Given the description of an element on the screen output the (x, y) to click on. 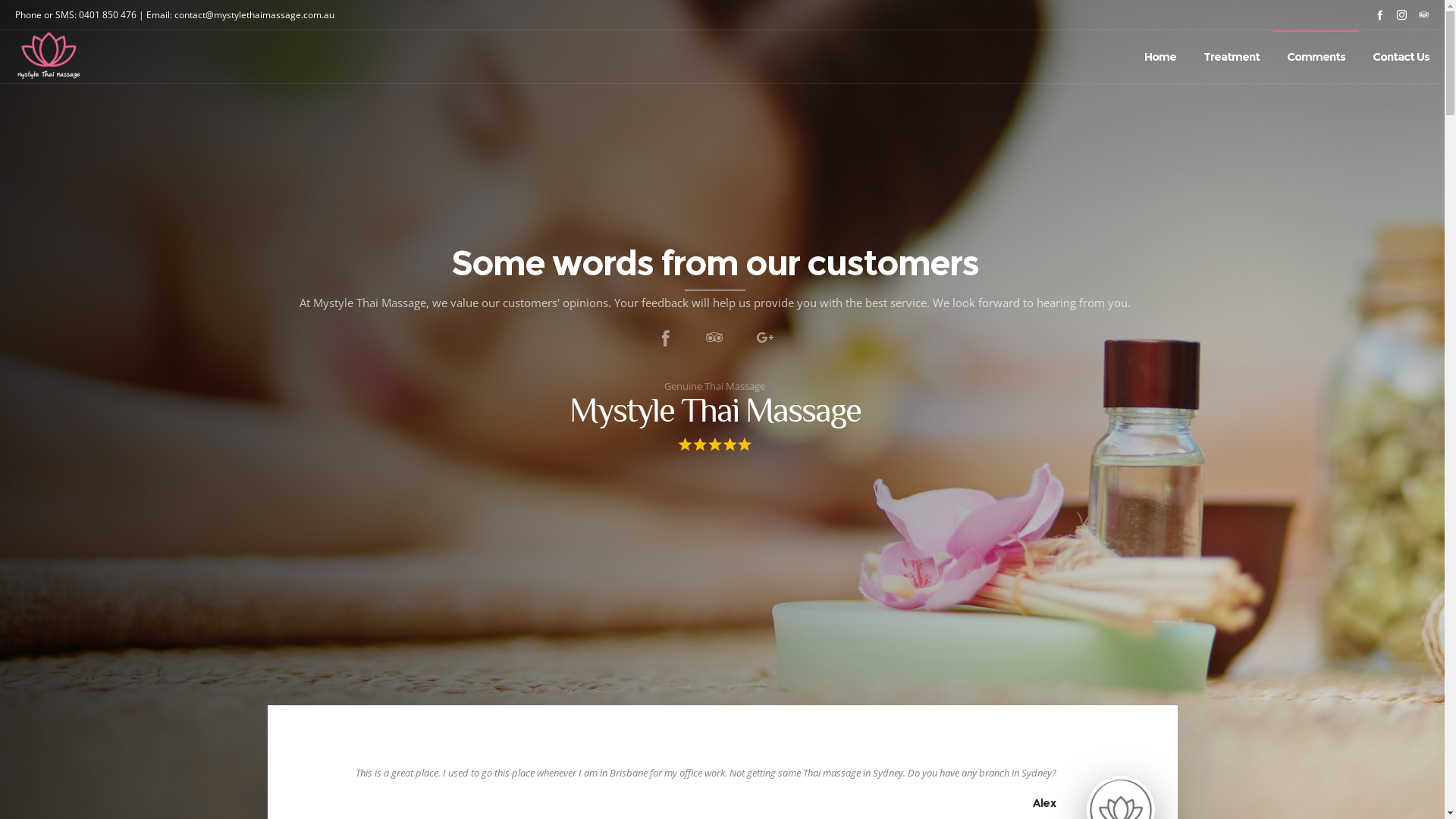
Tell people what you think on 'Facebook' Element type: hover (665, 338)
Facebook Element type: hover (1379, 14)
Contact Us Element type: text (1400, 56)
Tripadvisor Element type: hover (1423, 14)
Site logo Element type: hover (48, 56)
Comments Element type: text (1315, 56)
Instagram Element type: hover (1401, 14)
Share your experiences on 'TridAdvisor' Element type: hover (714, 338)
Home Element type: text (1160, 56)
Treatment Element type: text (1231, 56)
Write a review on 'Google' Element type: hover (764, 338)
